Given the description of an element on the screen output the (x, y) to click on. 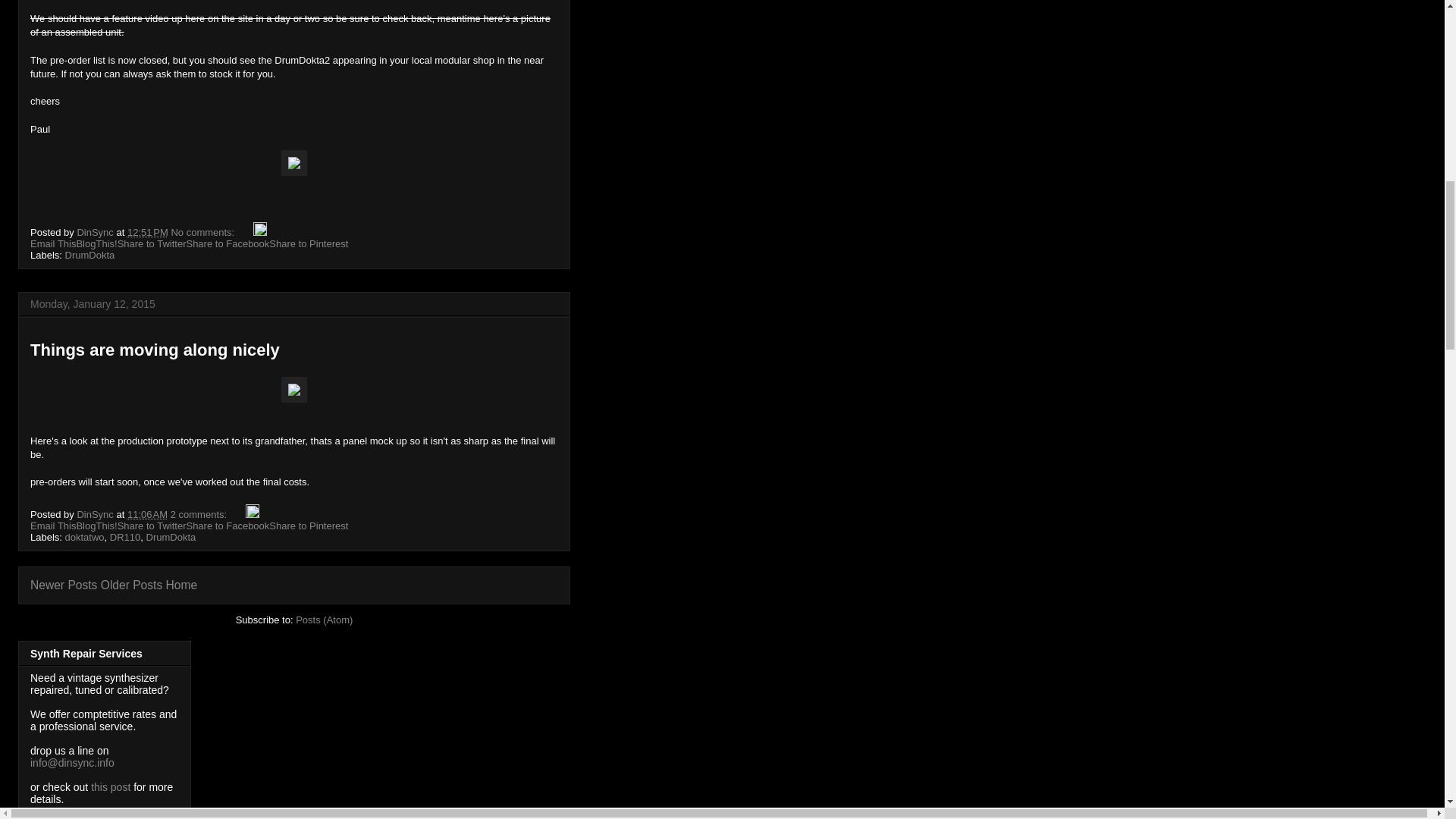
Edit Post (252, 514)
Email This (52, 243)
author profile (96, 514)
DR110 (124, 536)
Older Posts (130, 584)
Share to Facebook (227, 525)
Share to Facebook (227, 243)
Newer Posts (63, 584)
Edit Post (259, 232)
BlogThis! (95, 525)
DinSync (96, 232)
Share to Pinterest (308, 243)
Email This (52, 243)
author profile (96, 232)
